Given the description of an element on the screen output the (x, y) to click on. 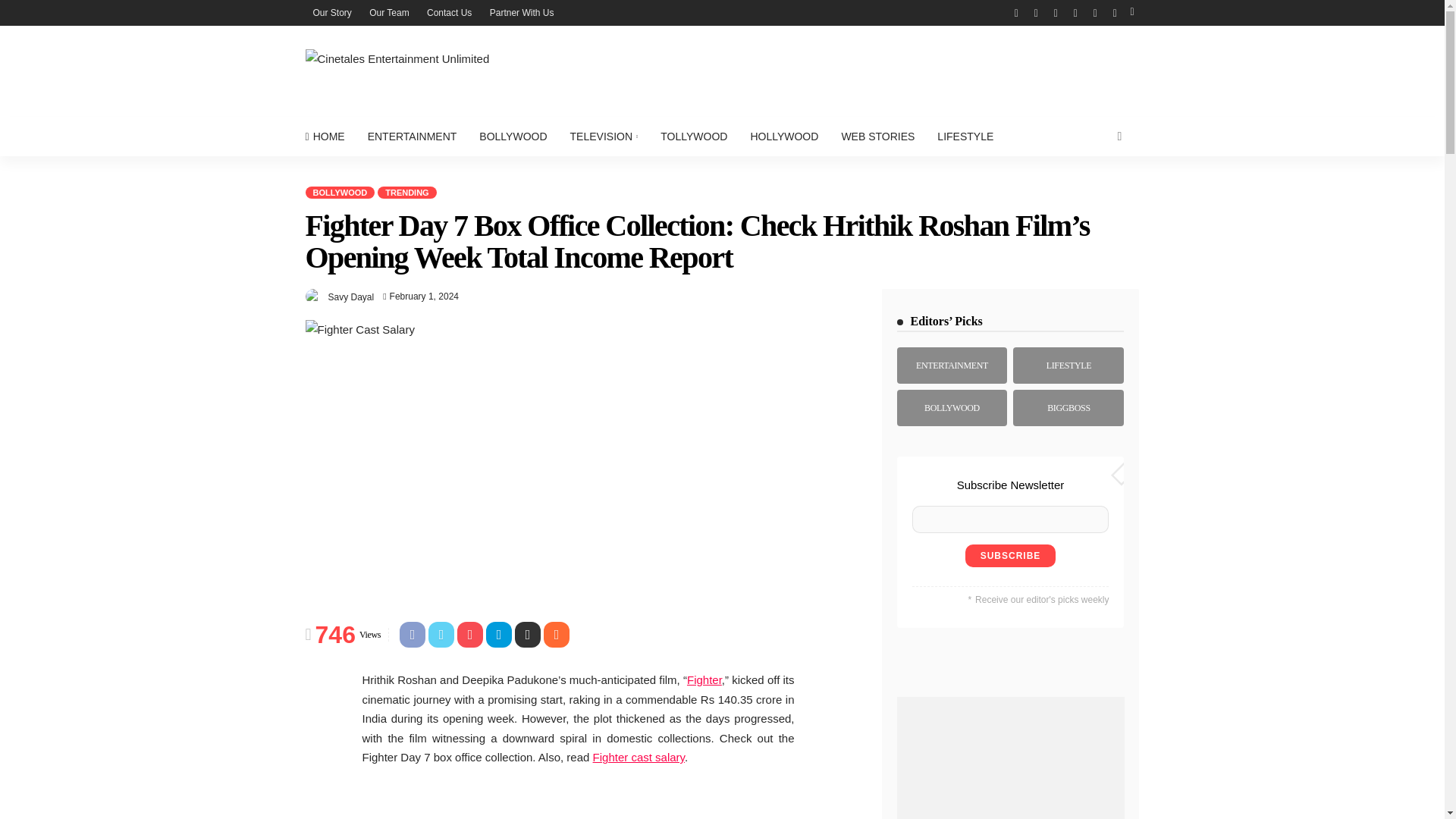
TELEVISION (604, 136)
ENTERTAINMENT (412, 136)
WEB STORIES (877, 136)
HOME (329, 136)
Our Story (331, 12)
Partner With Us (521, 12)
TOLLYWOOD (693, 136)
Contact Us (449, 12)
Our Team (388, 12)
BOLLYWOOD (512, 136)
HOLLYWOOD (783, 136)
Subscribe (1011, 555)
